Given the description of an element on the screen output the (x, y) to click on. 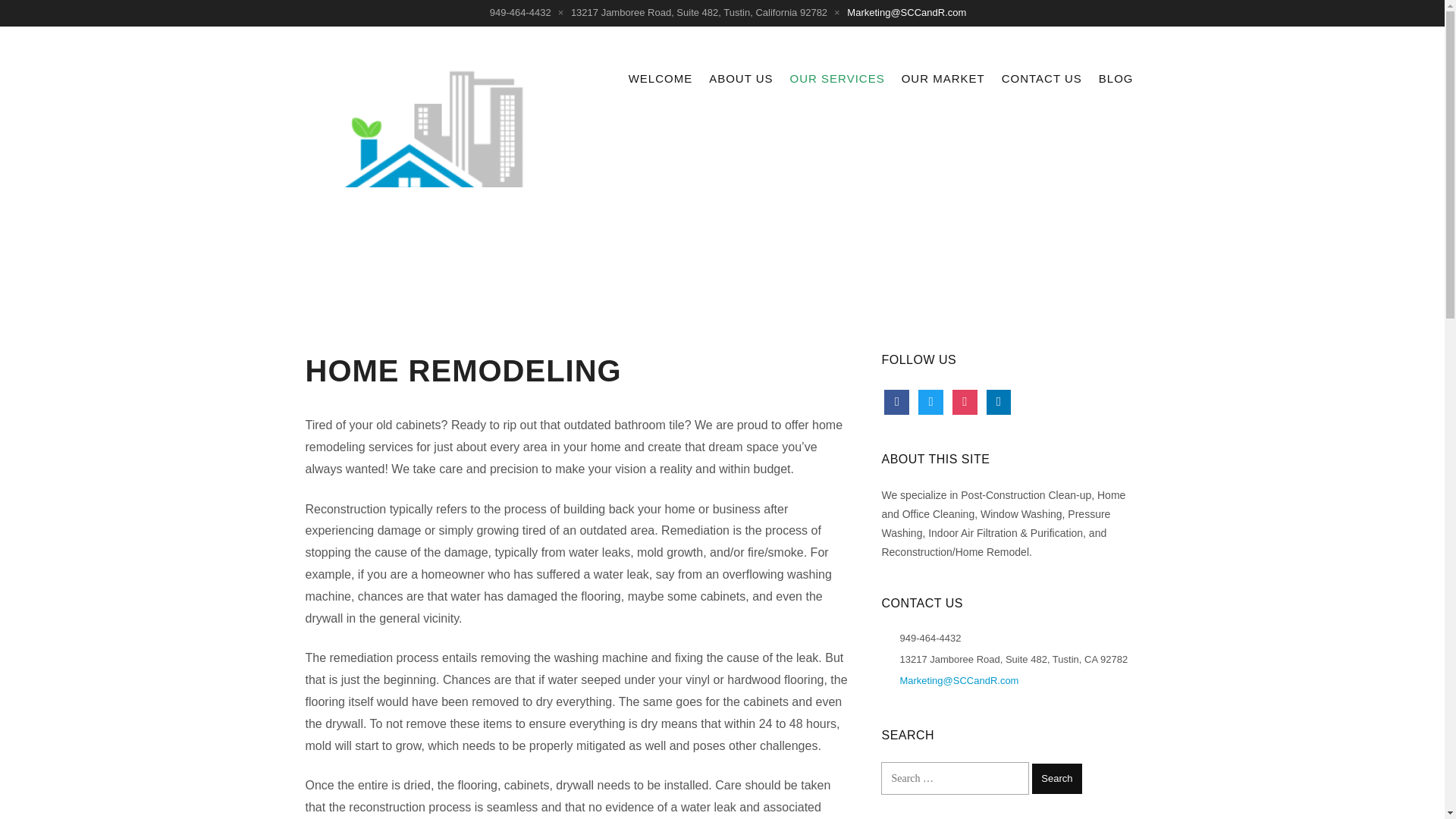
Facebook (895, 400)
Twitter (930, 400)
OUR SERVICES (837, 79)
twitter (930, 400)
facebook (895, 400)
WELCOME (660, 79)
Search (1056, 778)
Default Label (999, 400)
ABOUT US (740, 79)
